Given the description of an element on the screen output the (x, y) to click on. 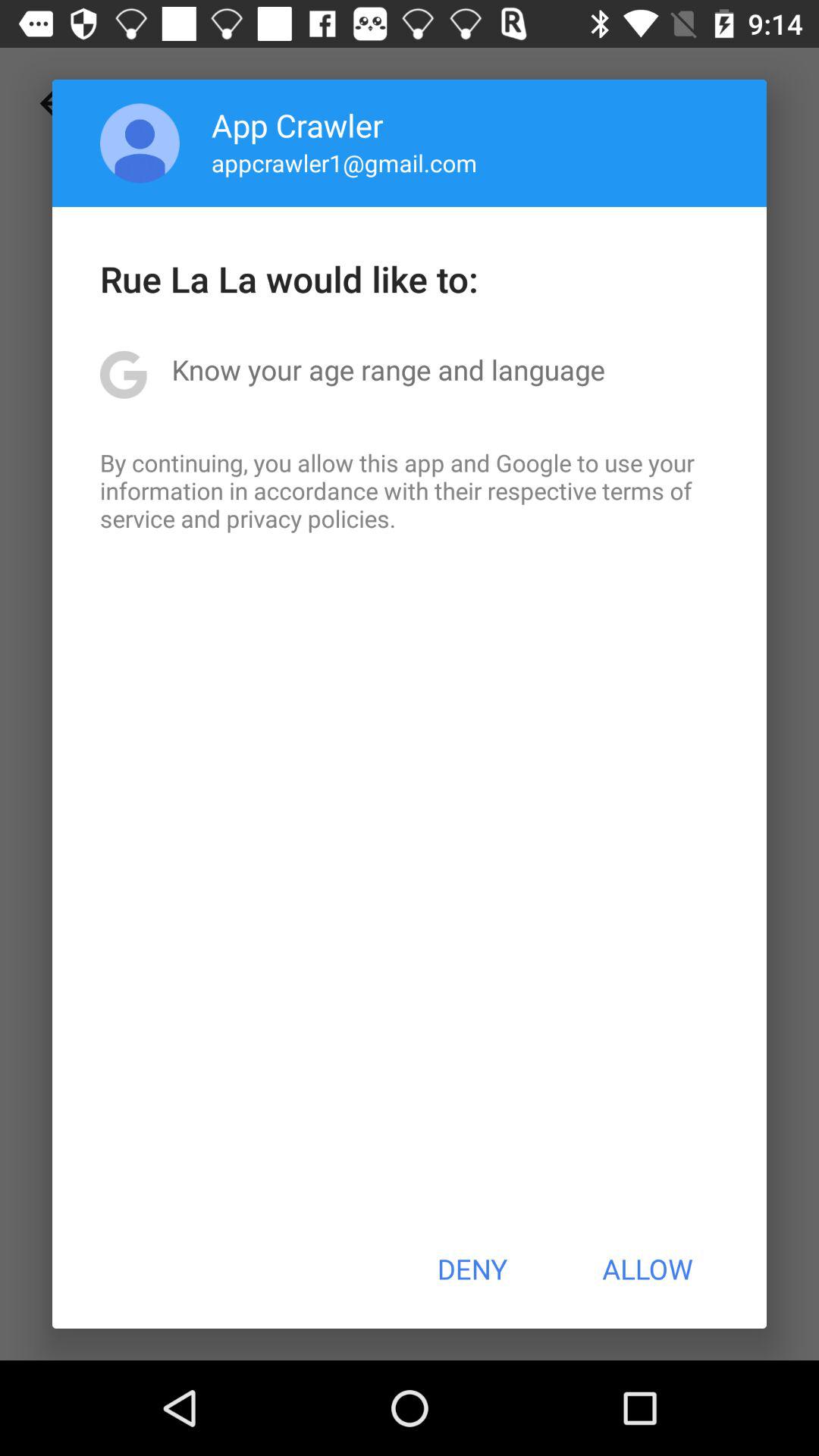
turn on deny item (471, 1268)
